Given the description of an element on the screen output the (x, y) to click on. 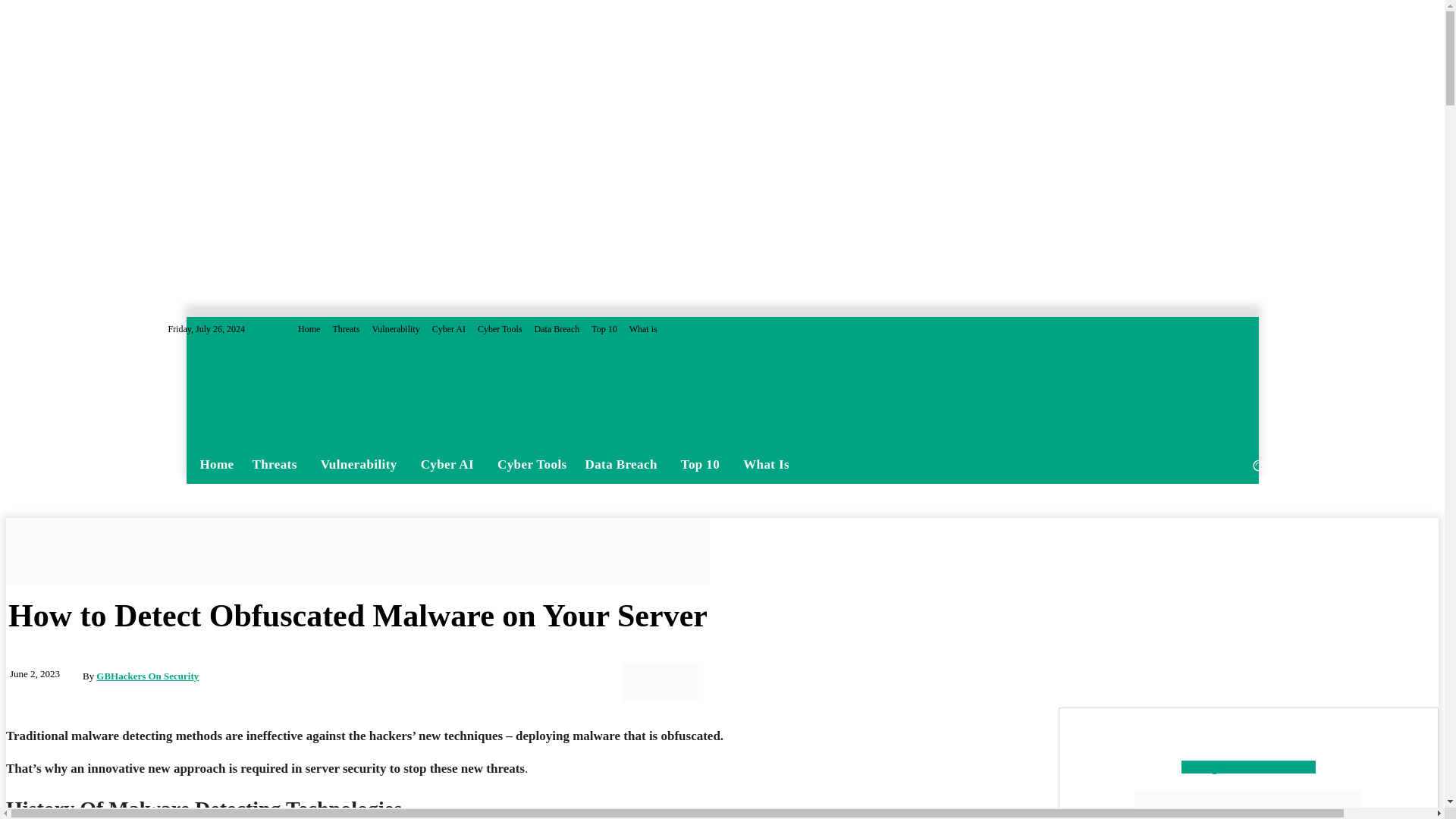
Home (216, 464)
Vulnerability (395, 328)
What is (643, 328)
Threats (345, 328)
Linkedin (1248, 329)
Cyber AI (448, 328)
Threats (277, 465)
Home (309, 328)
Data Breach (556, 328)
Cyber Tools (499, 328)
Twitter (1266, 329)
Top 10 (604, 328)
